Given the description of an element on the screen output the (x, y) to click on. 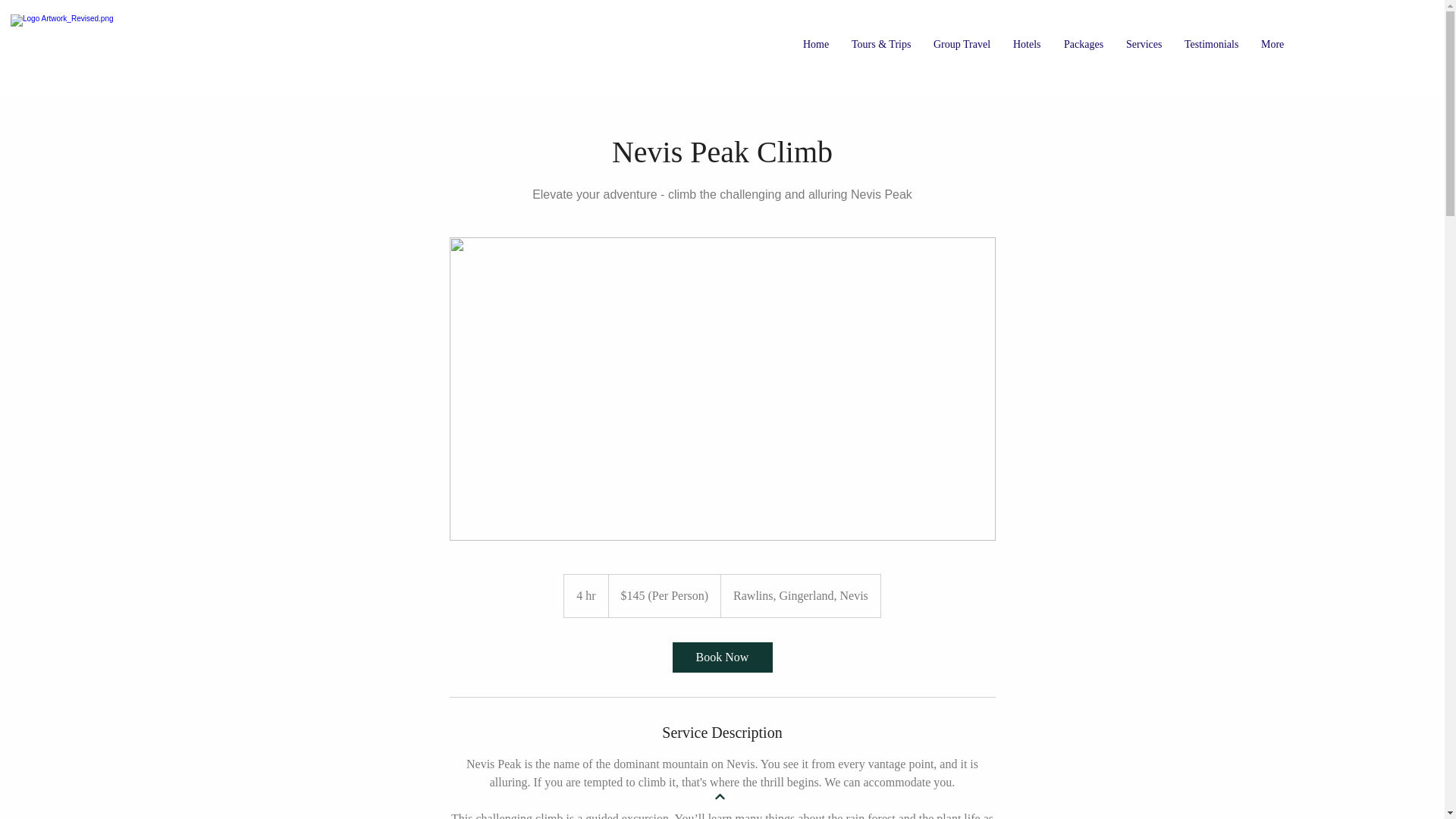
Testimonials (1211, 44)
Group Travel (961, 44)
Services (1144, 44)
Hotels (1026, 44)
Book Now (721, 657)
Packages (1083, 44)
Home (816, 44)
